Given the description of an element on the screen output the (x, y) to click on. 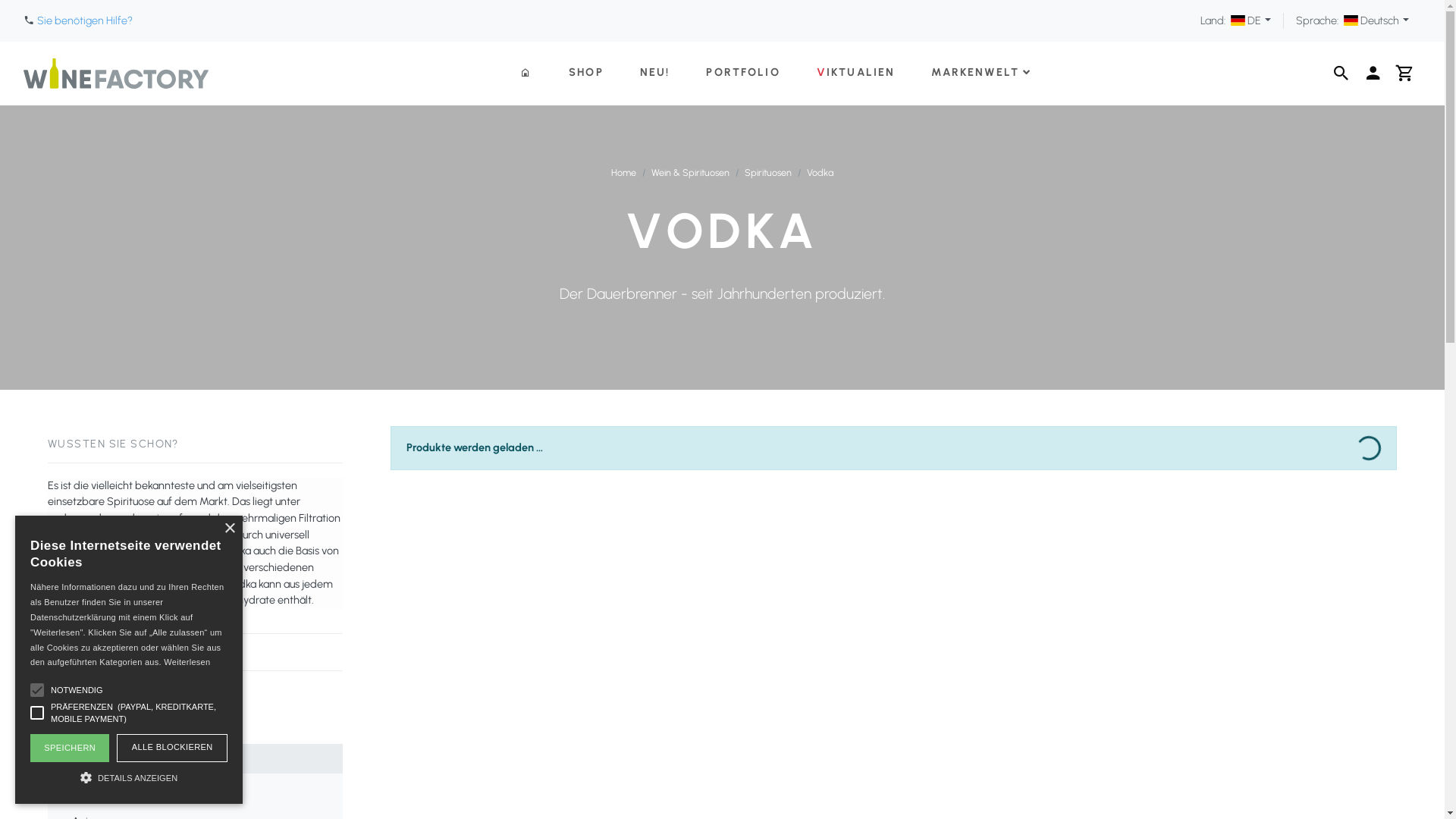
Alle anzeigen Element type: text (200, 787)
DE Element type: text (1250, 20)
Warenkorb Element type: hover (1405, 73)
Prickelndes Element type: text (194, 728)
MARKENWELT Element type: text (980, 72)
Wein Element type: text (194, 700)
SHOP Element type: text (585, 72)
Spirituosen Element type: text (194, 758)
Weiterlesen Element type: text (186, 661)
Deutsch Element type: text (1375, 20)
Login Element type: hover (1373, 73)
Suchen Element type: hover (1341, 73)
Home Element type: text (623, 172)
VIKTUALIEN Element type: text (855, 72)
PORTFOLIO Element type: text (742, 72)
Wein & Spirituosen Element type: text (690, 172)
Spirituosen Element type: text (767, 172)
NEU! Element type: text (654, 72)
